Given the description of an element on the screen output the (x, y) to click on. 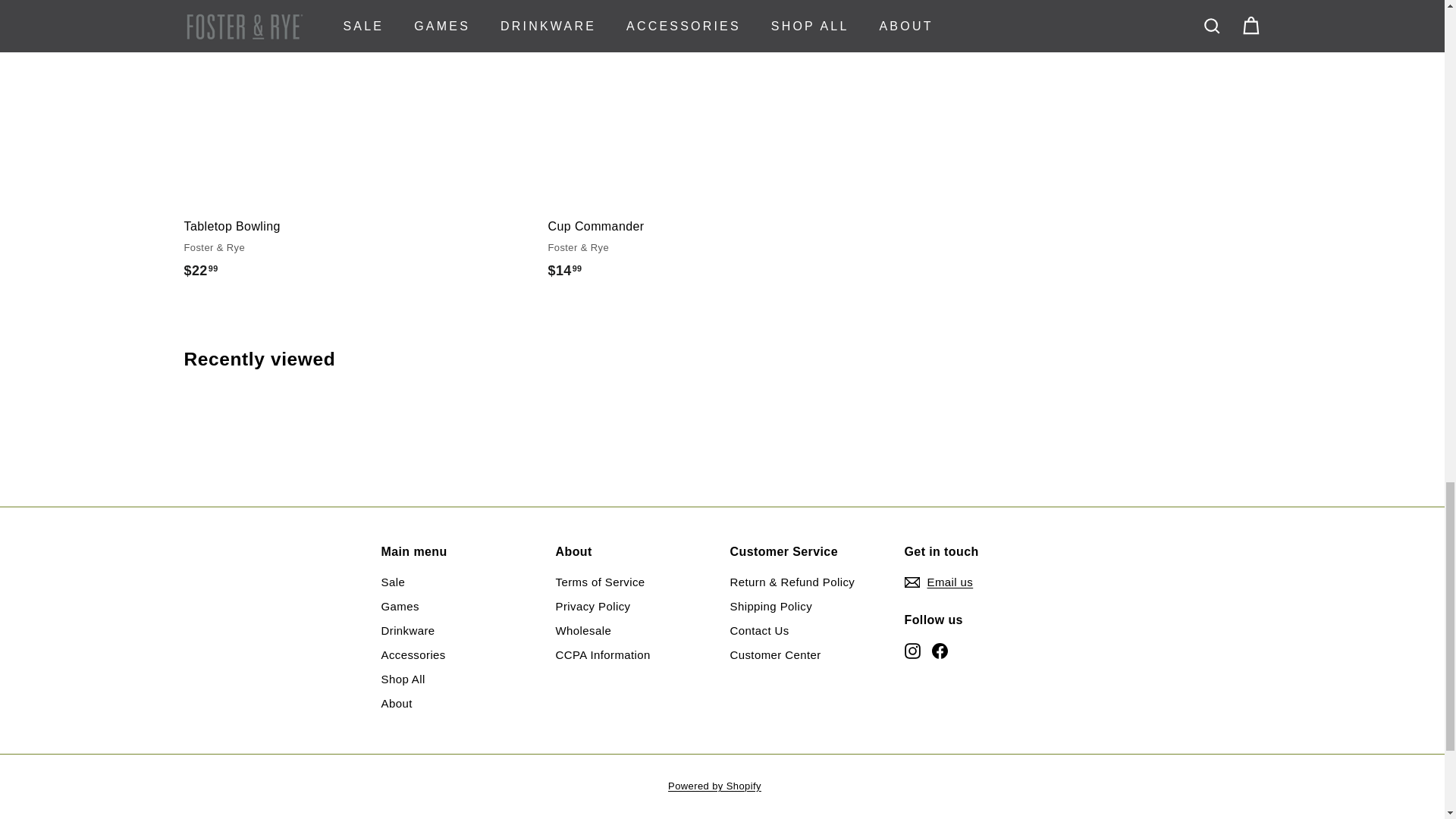
instagram (912, 650)
